Given the description of an element on the screen output the (x, y) to click on. 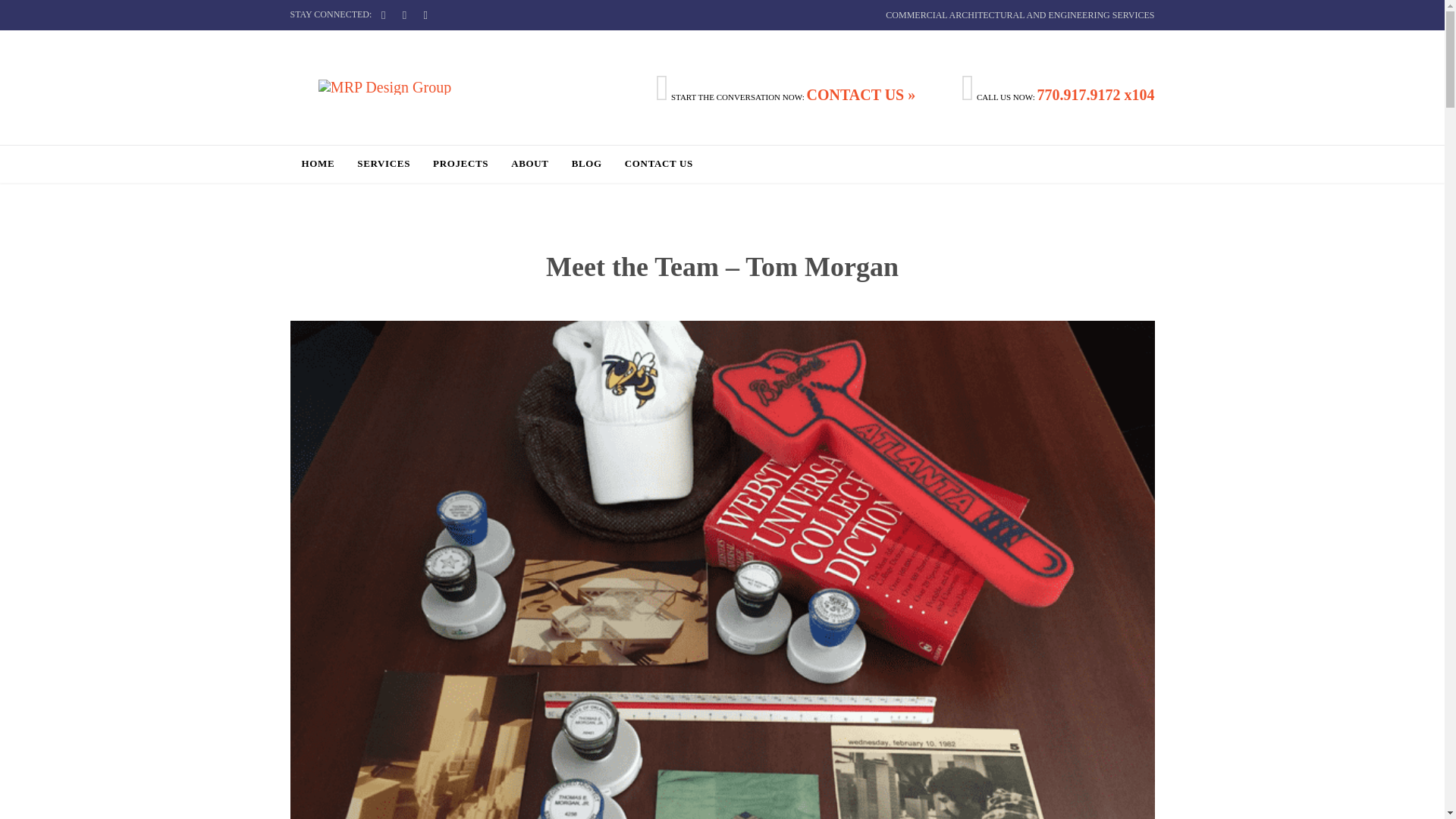
ABOUT (529, 164)
PROJECTS (459, 164)
770.917.9172 x104 (1095, 94)
HOME (317, 164)
BLOG (587, 164)
MRP Design Group (384, 87)
CONTACT US (658, 164)
SERVICES (383, 164)
